Given the description of an element on the screen output the (x, y) to click on. 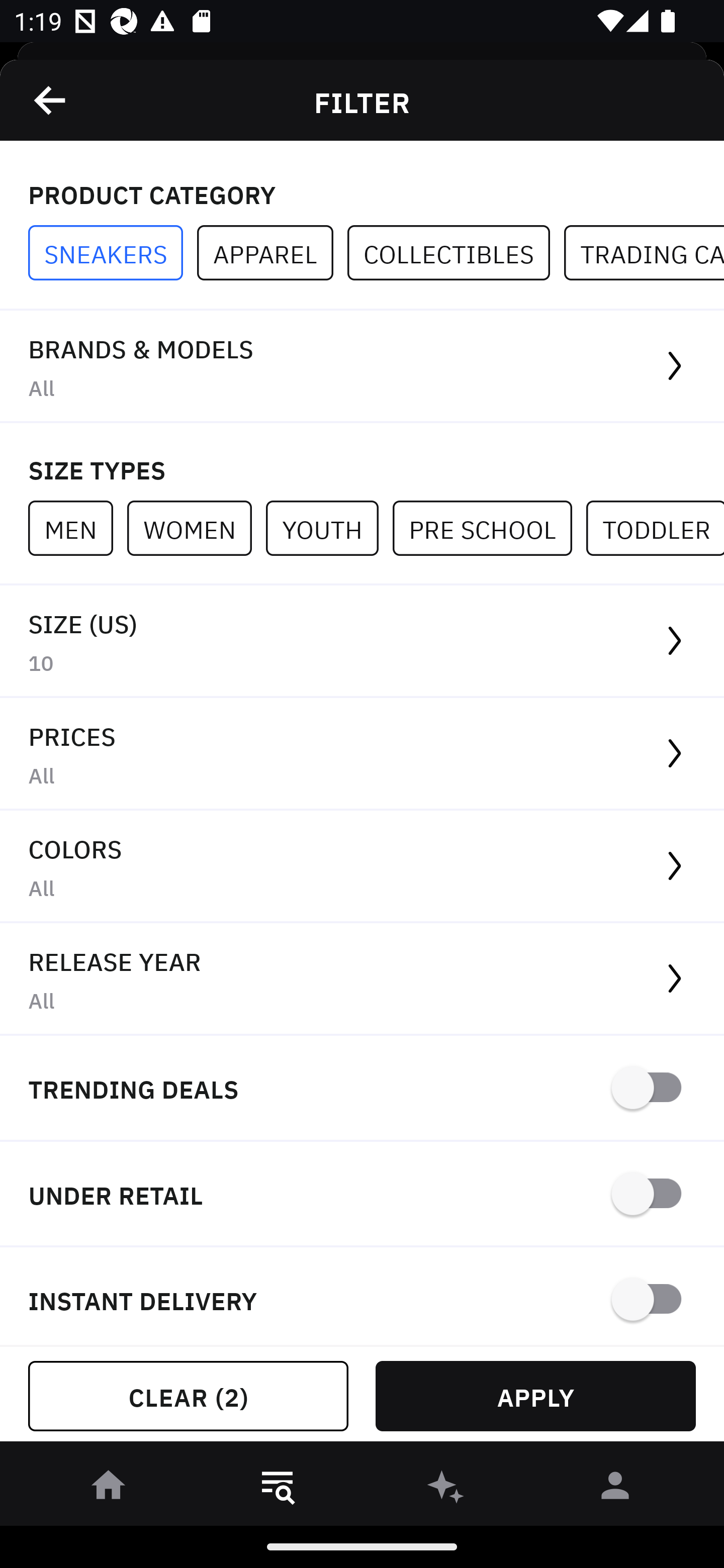
 (50, 100)
SNEAKERS (112, 252)
APPAREL (271, 252)
COLLECTIBLES (455, 252)
TRADING CARDS (643, 252)
BRANDS & MODELS All (362, 366)
MEN (77, 527)
WOMEN (196, 527)
YOUTH (328, 527)
PRE SCHOOL (489, 527)
TODDLER (655, 527)
SIZE (US) 10 (362, 640)
PRICES All (362, 753)
COLORS All (362, 866)
RELEASE YEAR All (362, 979)
TRENDING DEALS (362, 1088)
UNDER RETAIL (362, 1194)
INSTANT DELIVERY (362, 1296)
CLEAR (2) (188, 1396)
APPLY (535, 1396)
󰋜 (108, 1488)
󱎸 (277, 1488)
󰫢 (446, 1488)
󰀄 (615, 1488)
